Given the description of an element on the screen output the (x, y) to click on. 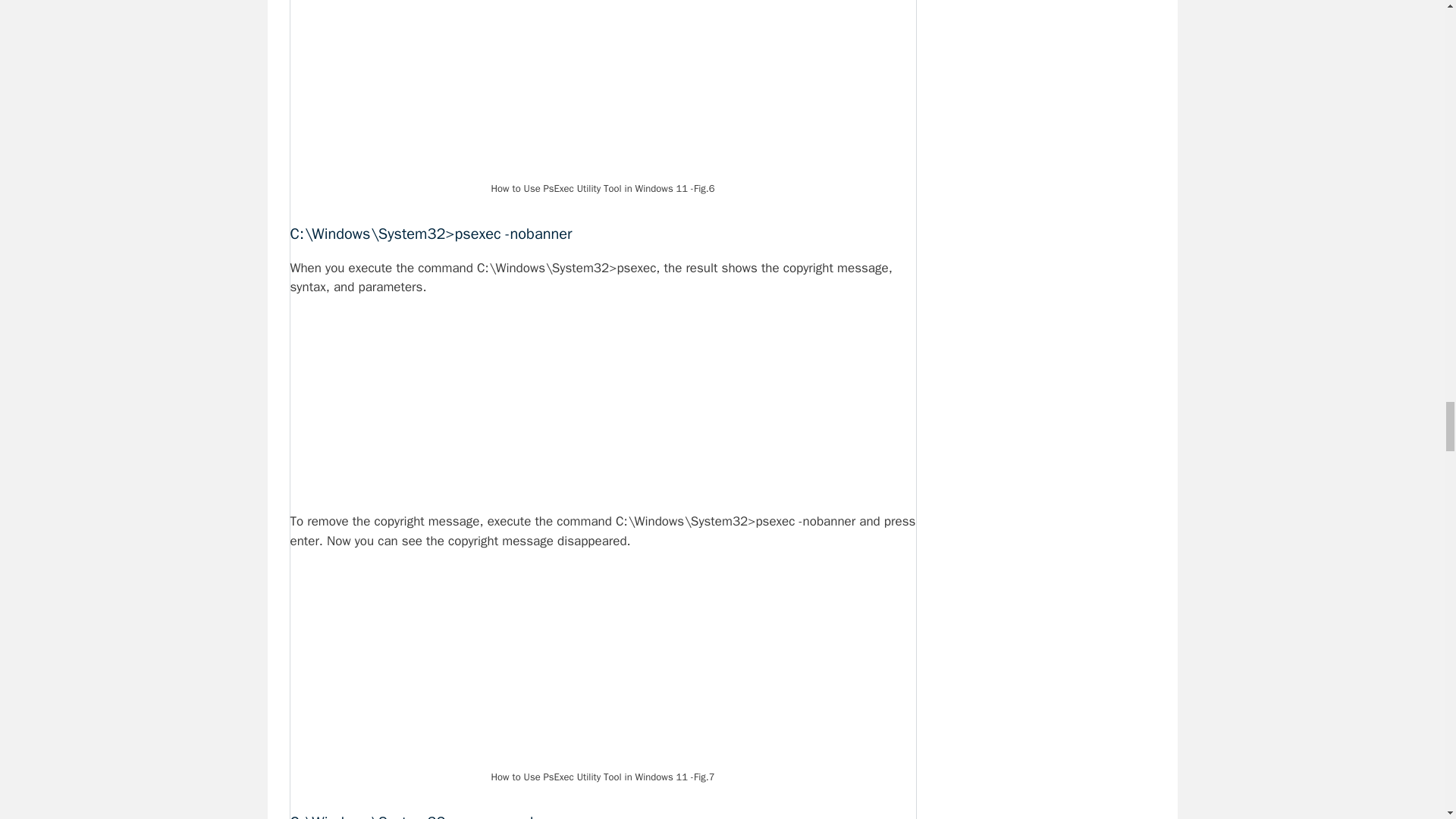
How to Use PsExec Utility Tool in Windows 11 6 (602, 88)
How to Use PsExec Utility Tool in Windows 11 7 (603, 667)
